Given the description of an element on the screen output the (x, y) to click on. 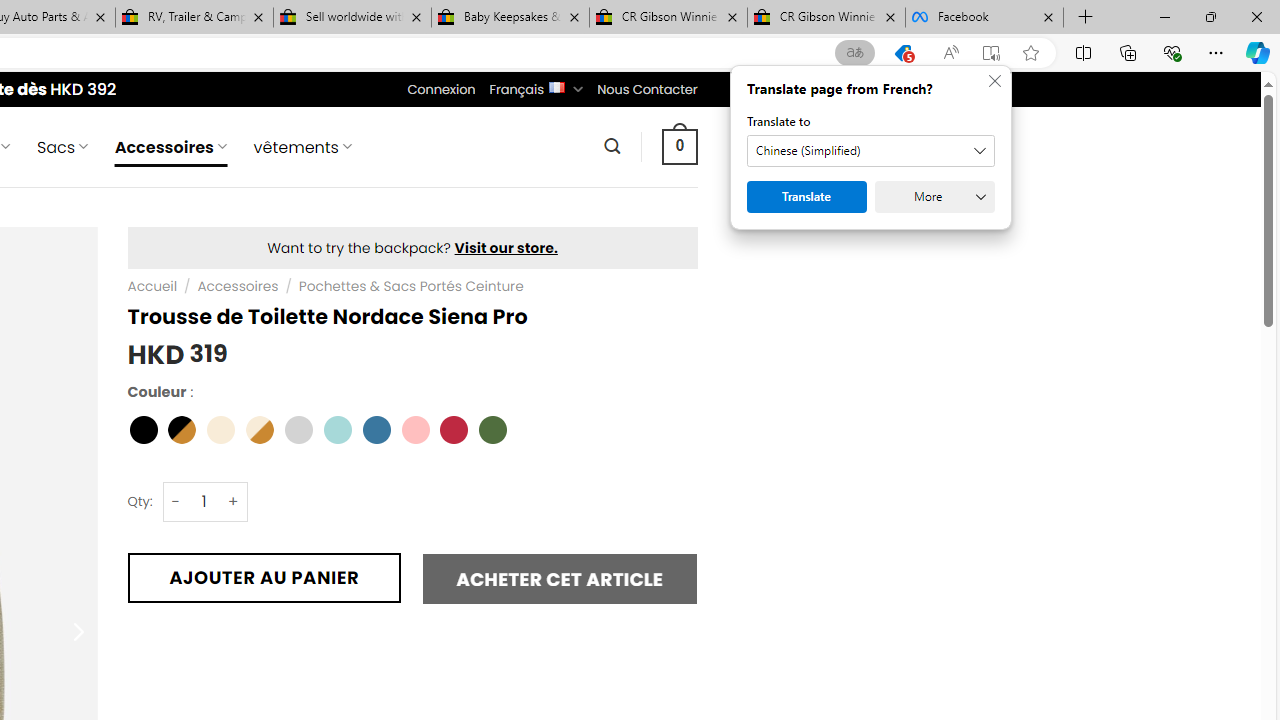
More (934, 196)
Facebook (984, 17)
Accueil (151, 286)
AJOUTER AU PANIER (263, 577)
Translate to (870, 151)
RV, Trailer & Camper Steps & Ladders for sale | eBay (194, 17)
Baby Keepsakes & Announcements for sale | eBay (509, 17)
Recherche (612, 146)
